Given the description of an element on the screen output the (x, y) to click on. 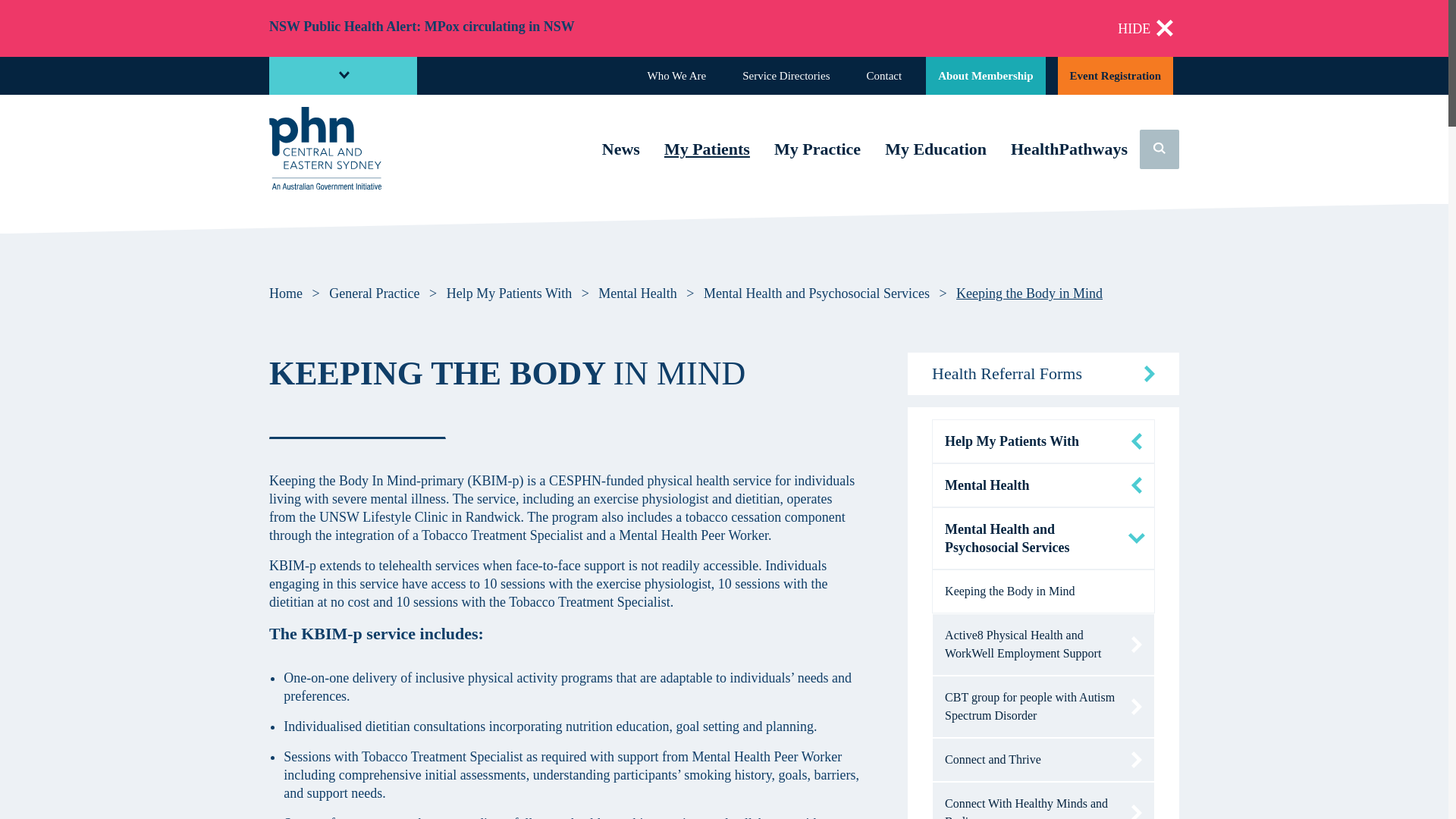
Logo (325, 148)
Event Registration (1115, 75)
Service Directories (785, 75)
NSW Public Health Alert: MPox circulating in NSW (422, 25)
HIDE (1145, 28)
About Membership (985, 75)
Who We Are (675, 75)
My Patients (706, 151)
Contact (884, 75)
My Practice (817, 151)
